Given the description of an element on the screen output the (x, y) to click on. 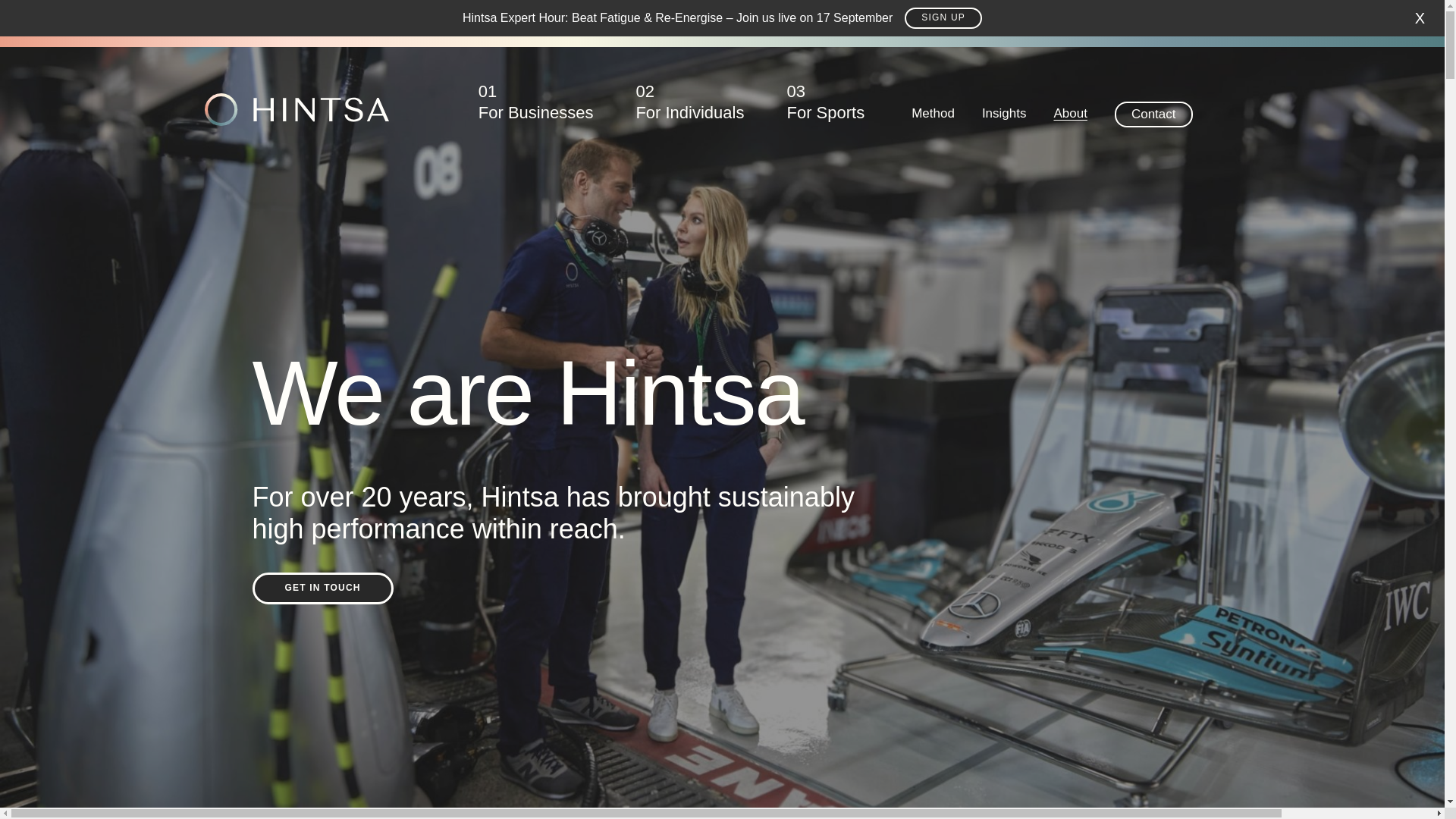
About (1069, 122)
Contact (1153, 114)
Hintsa (296, 109)
Insights (1004, 122)
GET IN TOUCH (689, 109)
Method (825, 109)
SIGN UP (322, 588)
